Given the description of an element on the screen output the (x, y) to click on. 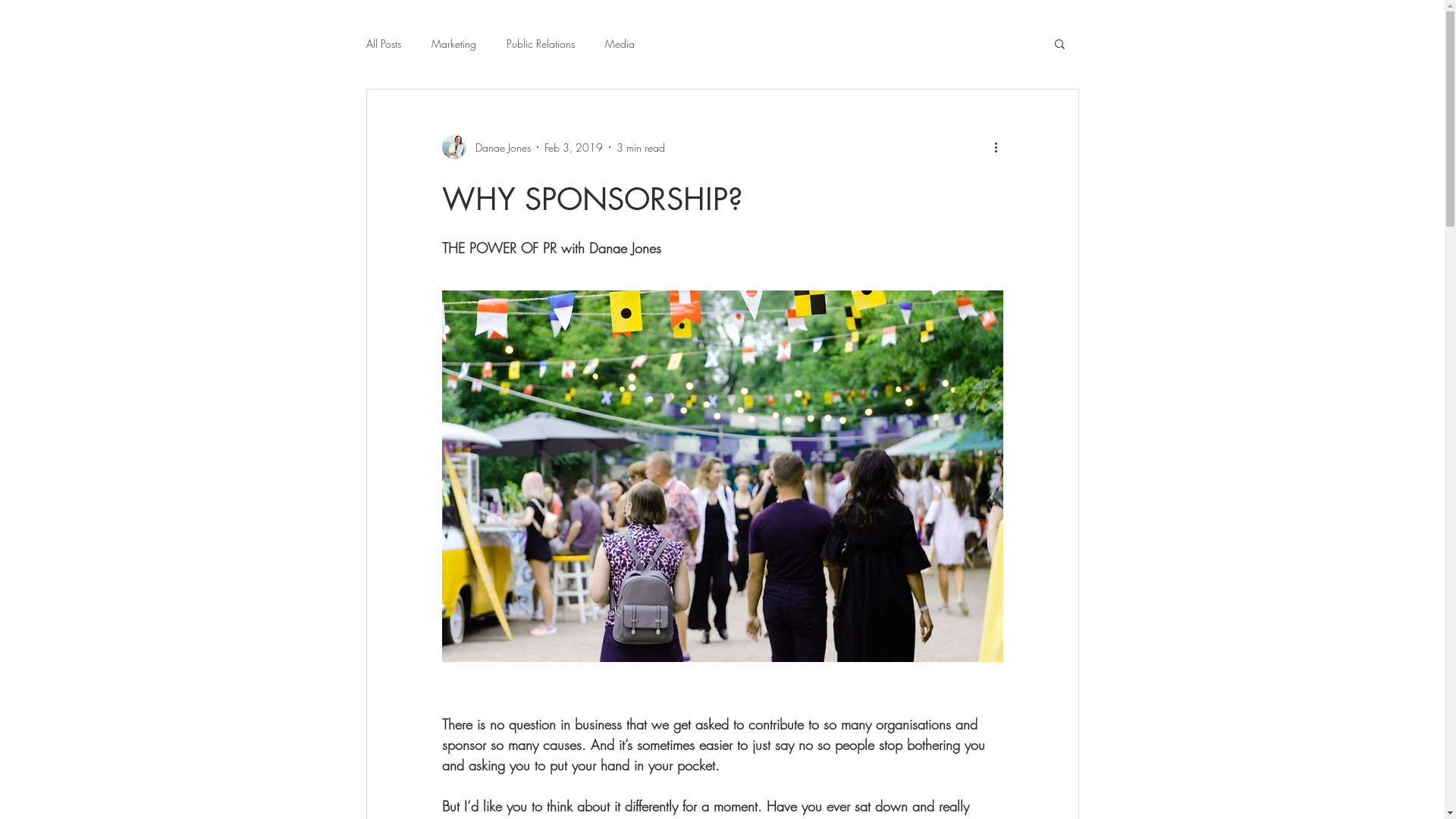
Media Element type: text (619, 43)
Marketing Element type: text (452, 43)
All Posts Element type: text (382, 43)
Public Relations Element type: text (540, 43)
